Given the description of an element on the screen output the (x, y) to click on. 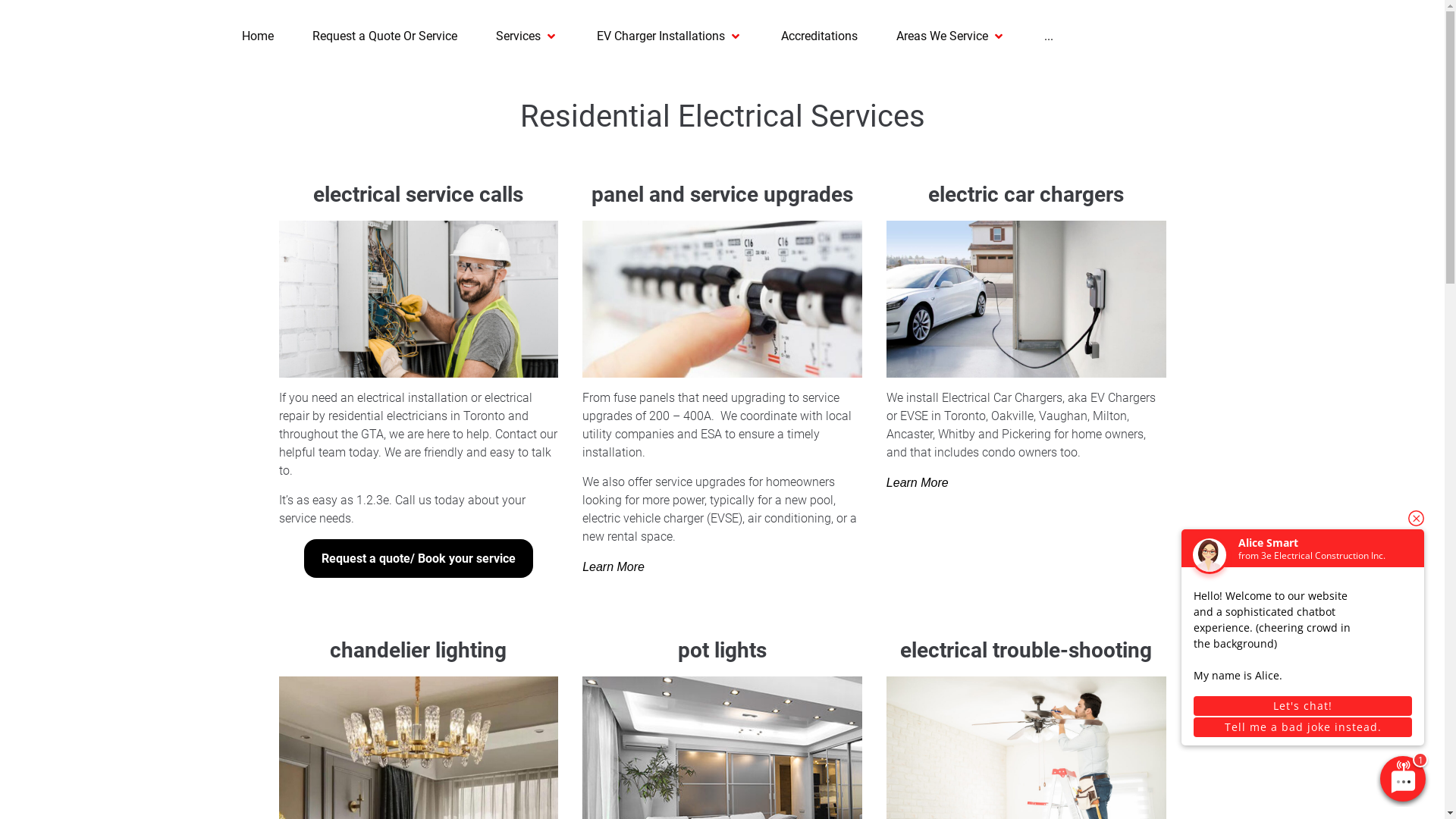
EV Charger Installations Element type: text (660, 36)
Home Element type: text (257, 36)
Tell me a bad joke instead. Element type: text (1302, 727)
Let's chat! Element type: text (1302, 705)
Request a quote/ Book your service Element type: text (418, 558)
Request a Quote Or Service Element type: text (384, 36)
Areas We Service Element type: text (942, 36)
Chat Activation Button Element type: hover (1403, 779)
Learn More Element type: text (917, 482)
Services Element type: text (517, 36)
Learn More Element type: text (613, 566)
... Element type: text (1048, 36)
Accreditations Element type: text (819, 36)
